Given the description of an element on the screen output the (x, y) to click on. 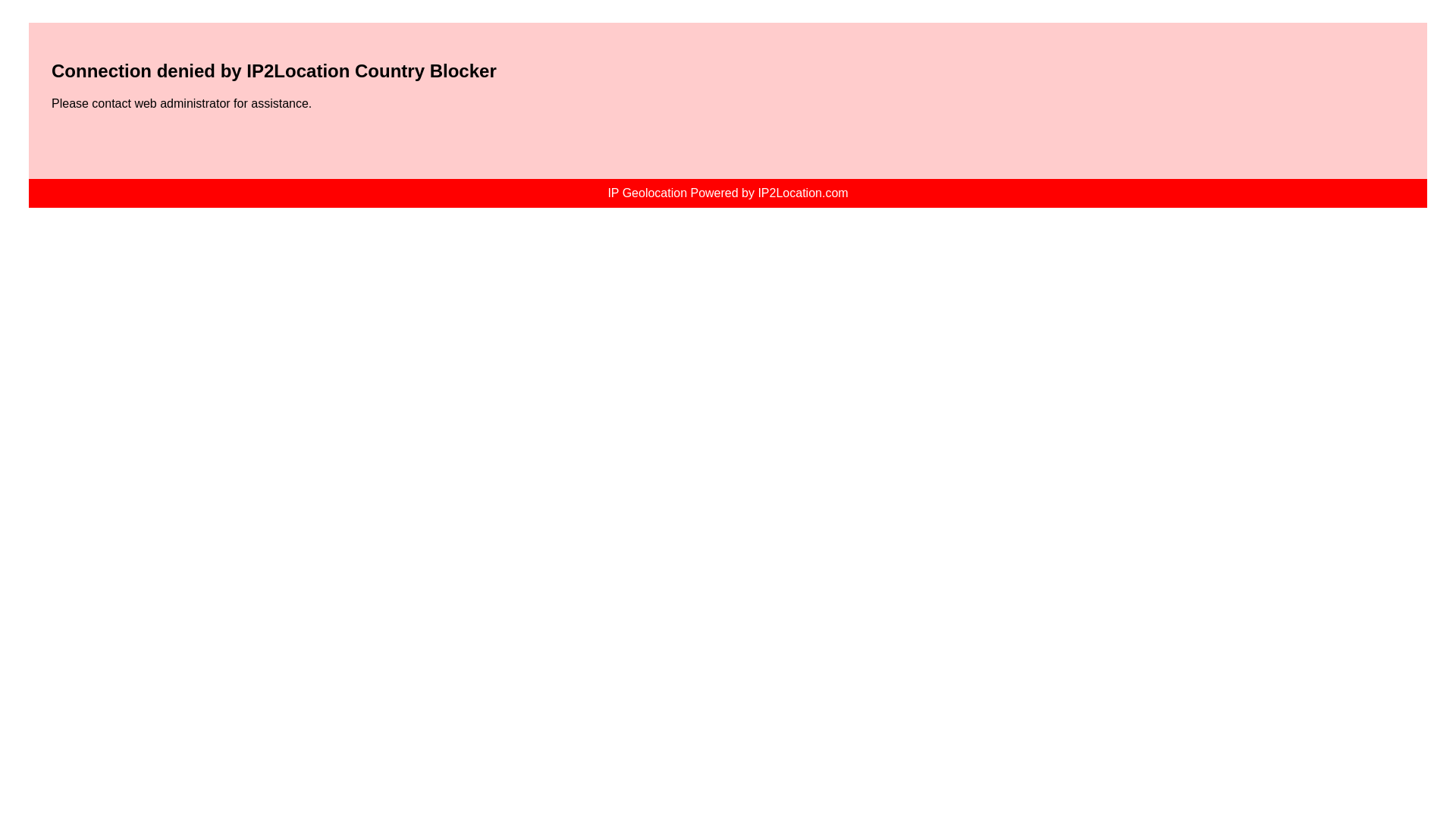
IP Geolocation Powered by IP2Location.com Element type: text (727, 192)
